Given the description of an element on the screen output the (x, y) to click on. 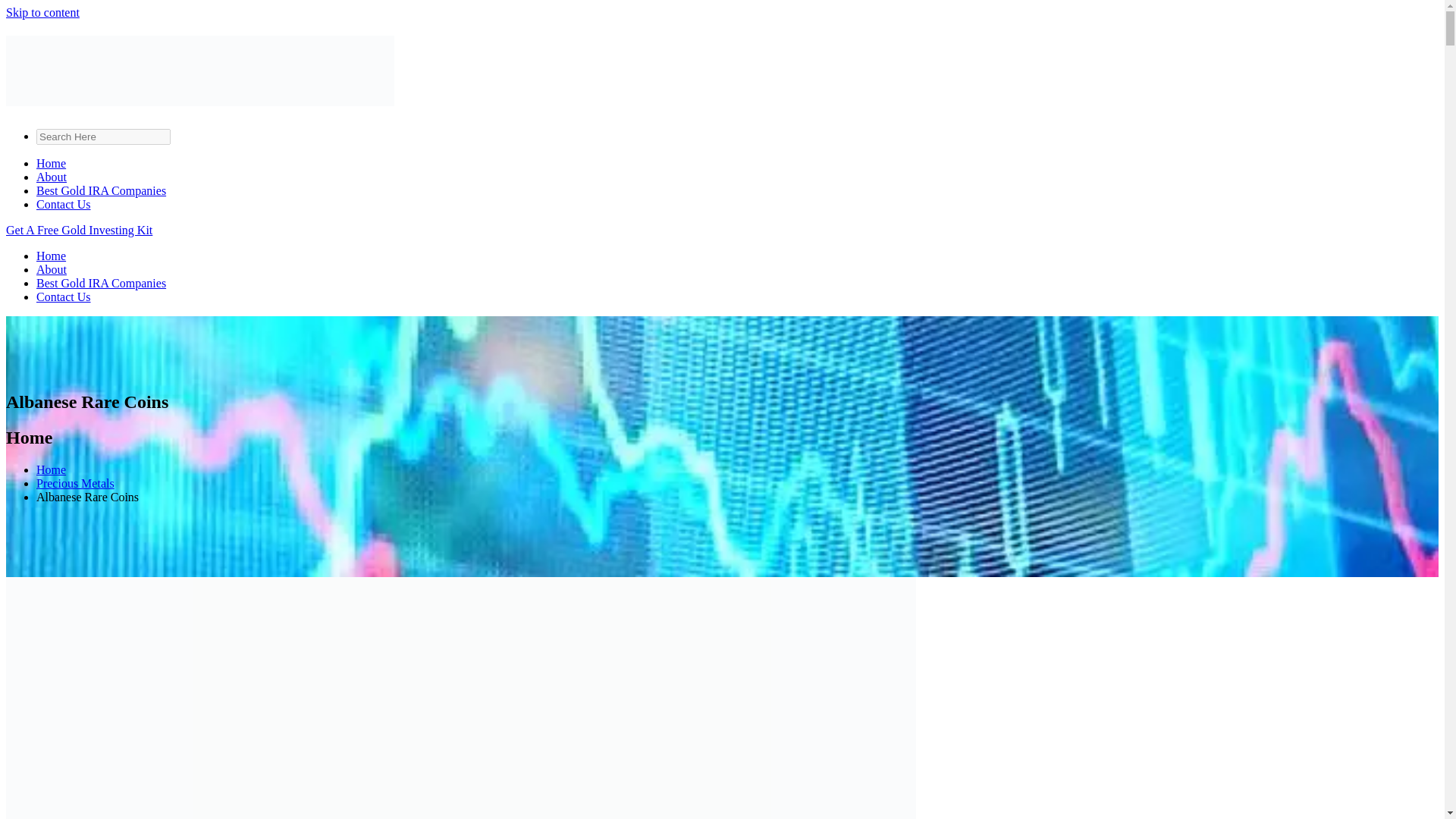
Best Gold IRA Companies (100, 190)
Home (50, 163)
Skip to content (42, 11)
Home (50, 469)
Contact Us (63, 296)
Home (50, 255)
Best Gold IRA Companies (100, 282)
About (51, 269)
Get A Free Gold Investing Kit (78, 229)
Precious Metals (75, 482)
